Given the description of an element on the screen output the (x, y) to click on. 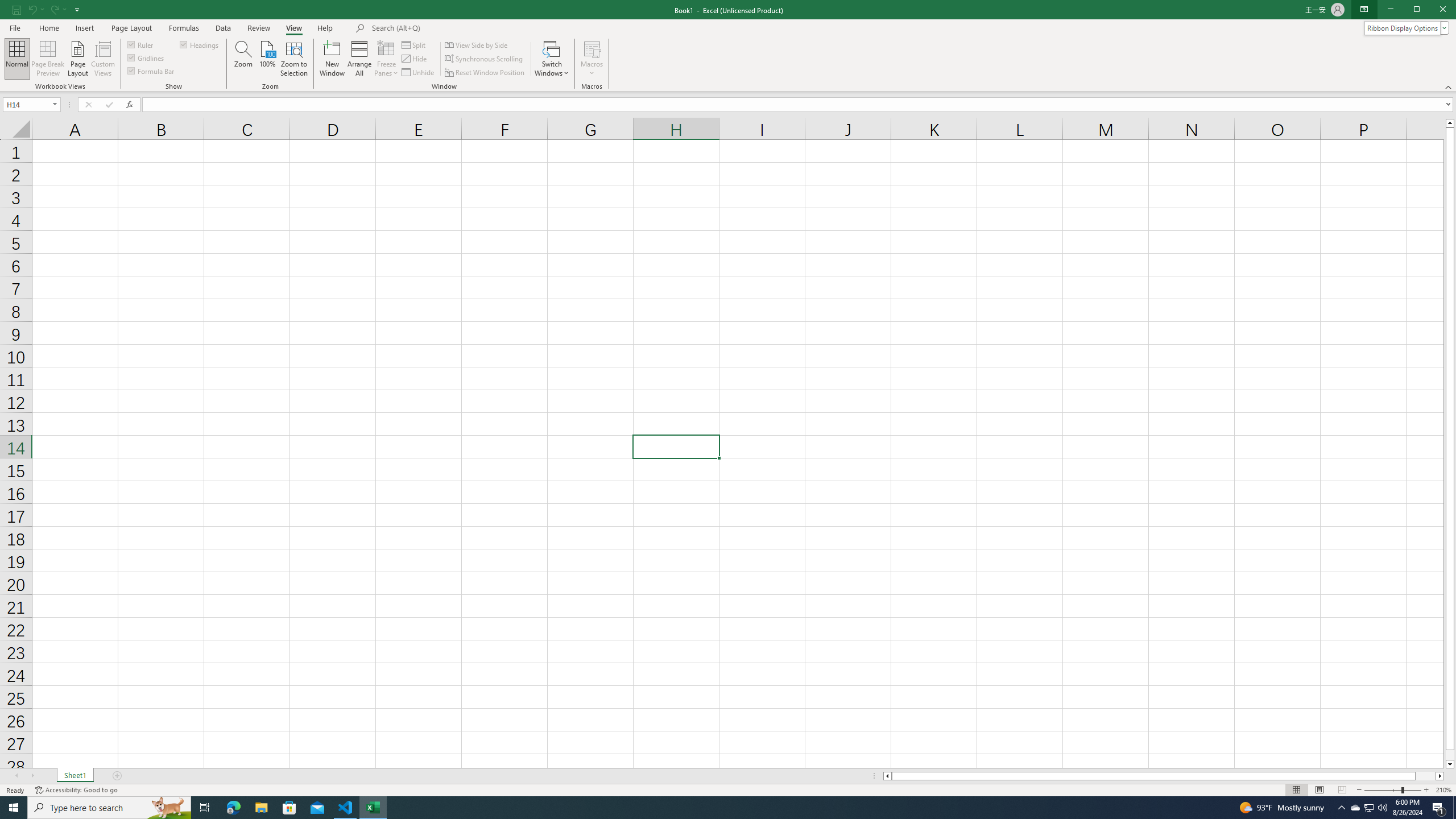
100% (266, 58)
Synchronous Scrolling (484, 58)
Freeze Panes (386, 58)
Maximize (1432, 10)
Reset Window Position (485, 72)
